Given the description of an element on the screen output the (x, y) to click on. 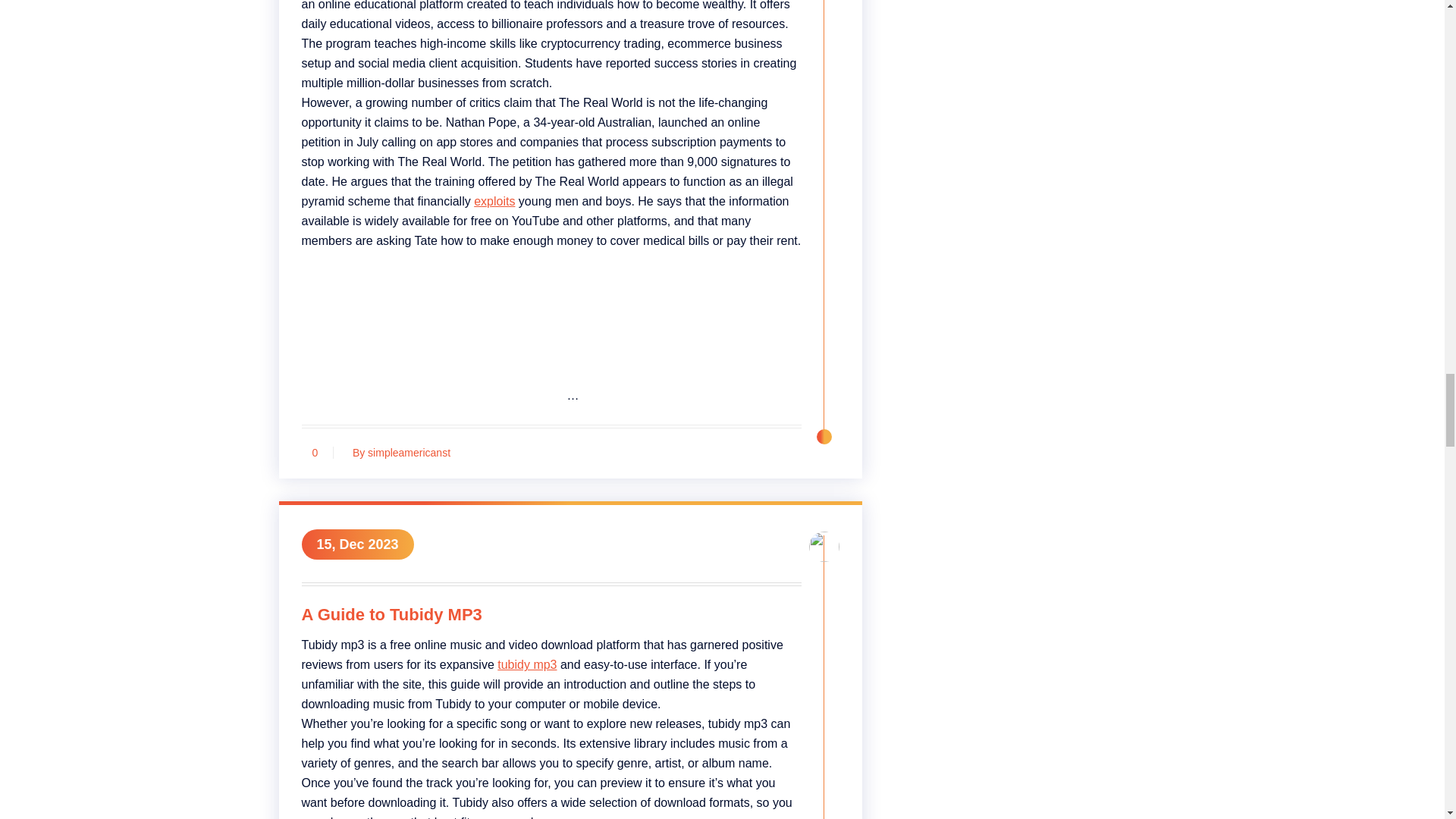
exploits (494, 201)
0 (315, 452)
By simpleamericanst (397, 452)
